Given the description of an element on the screen output the (x, y) to click on. 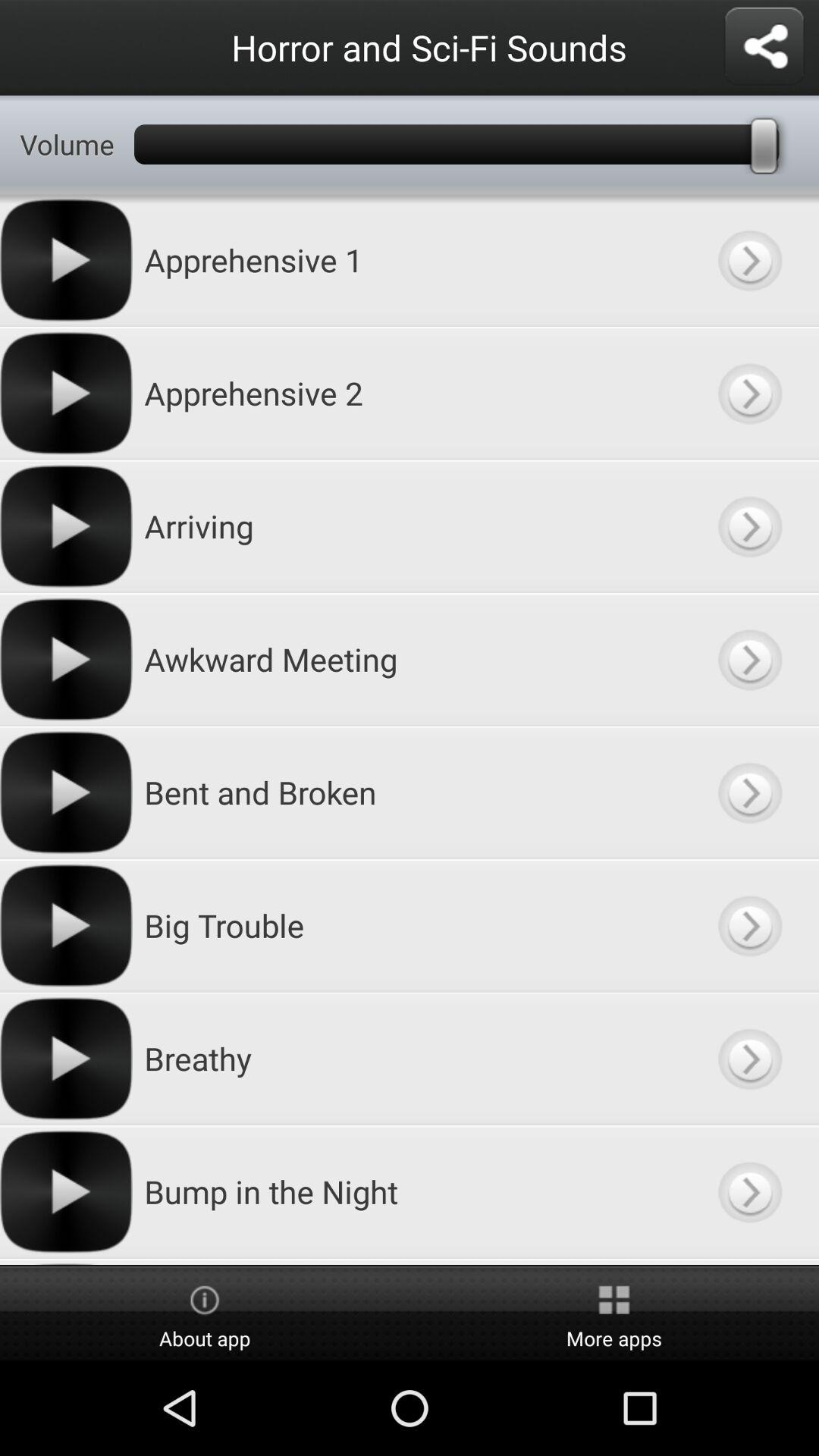
more information (749, 1058)
